Given the description of an element on the screen output the (x, y) to click on. 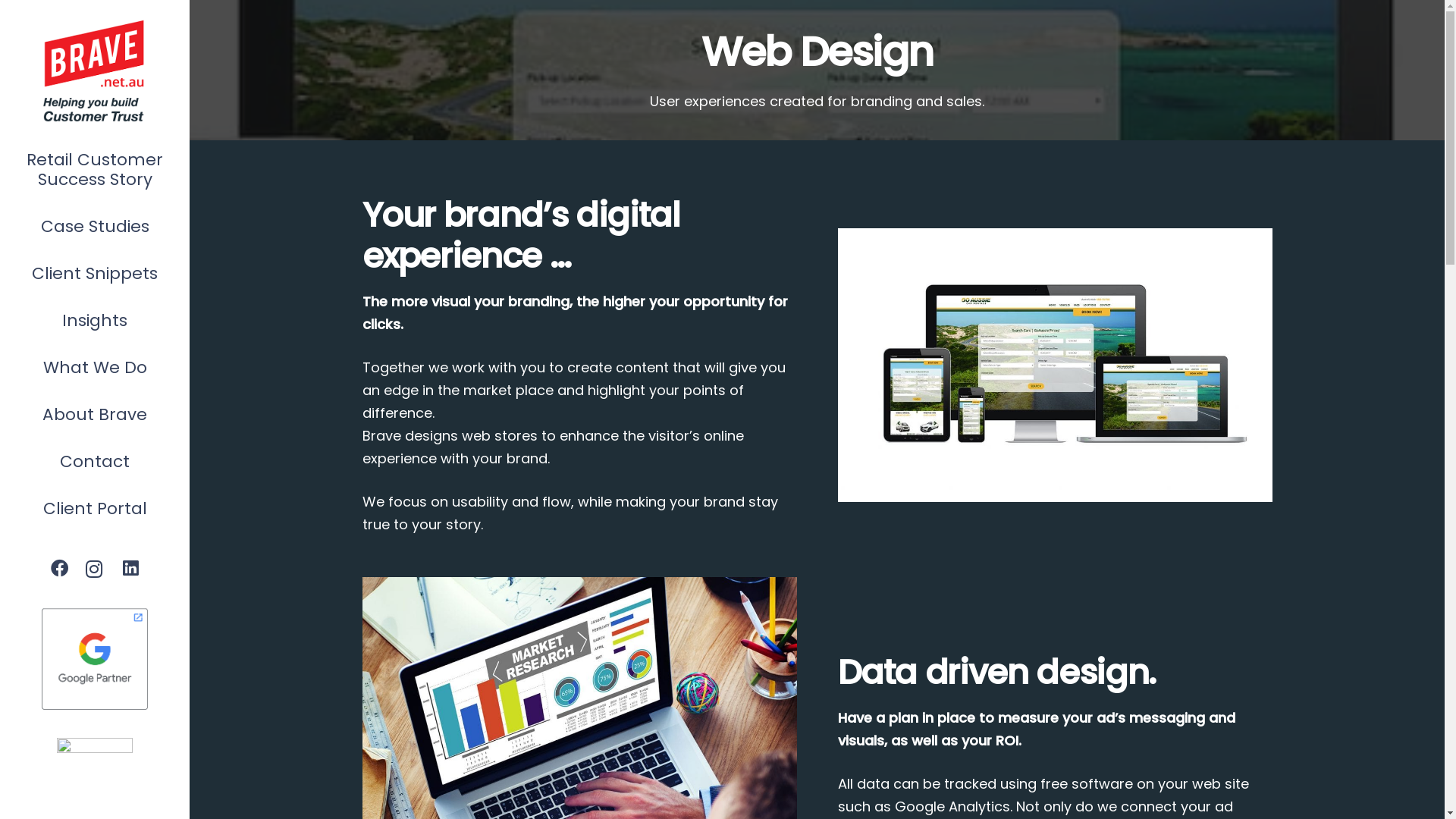
LinkedIn Element type: hover (129, 568)
Retail Customer Success Story Element type: text (94, 169)
Client Portal Element type: text (94, 508)
Insights Element type: text (94, 320)
Contact Element type: text (94, 461)
What We Do Element type: text (94, 367)
Facebook Element type: hover (59, 568)
About Brave Element type: text (94, 414)
Client Snippets Element type: text (94, 273)
Case Studies Element type: text (94, 226)
Instagram Element type: hover (94, 568)
